Given the description of an element on the screen output the (x, y) to click on. 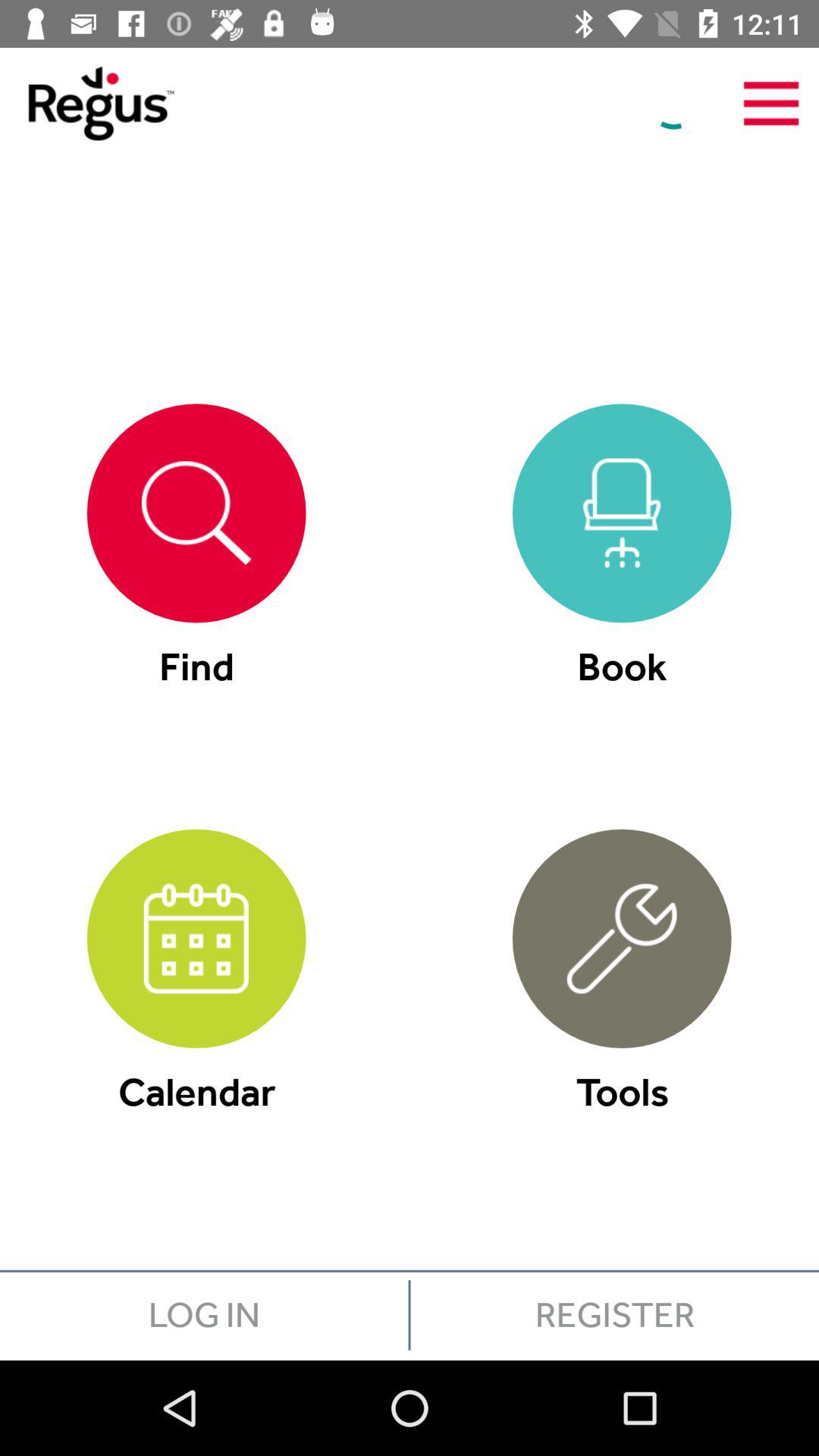
flip until log in icon (204, 1314)
